Given the description of an element on the screen output the (x, y) to click on. 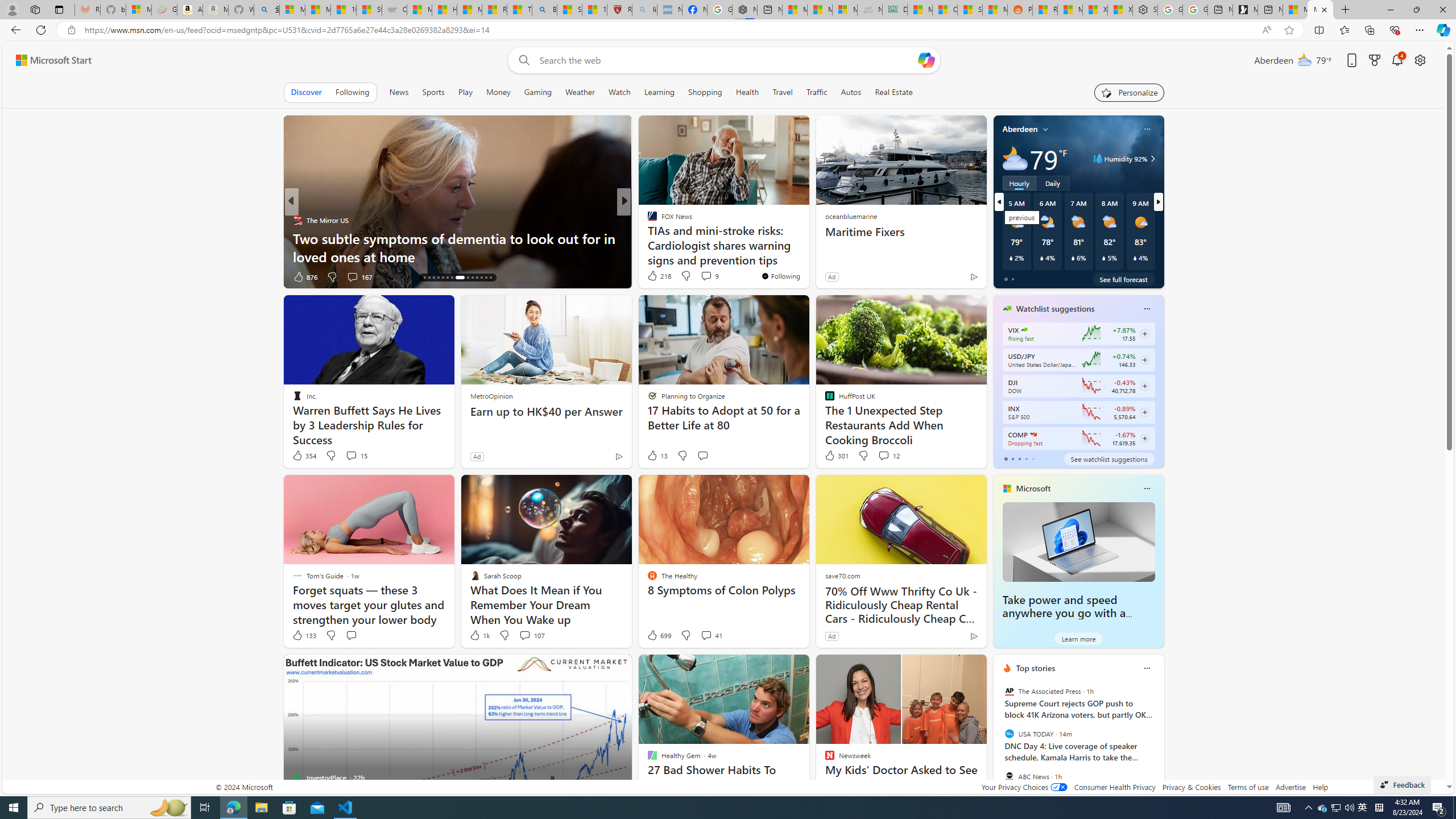
The Mirror US (296, 219)
154 Like (654, 276)
Class: follow-button  m (1144, 438)
View comments 5 Comment (702, 276)
AutomationID: tab-27 (486, 277)
You're following FOX News (780, 275)
Traffic (816, 92)
Mostly cloudy (1014, 158)
